Given the description of an element on the screen output the (x, y) to click on. 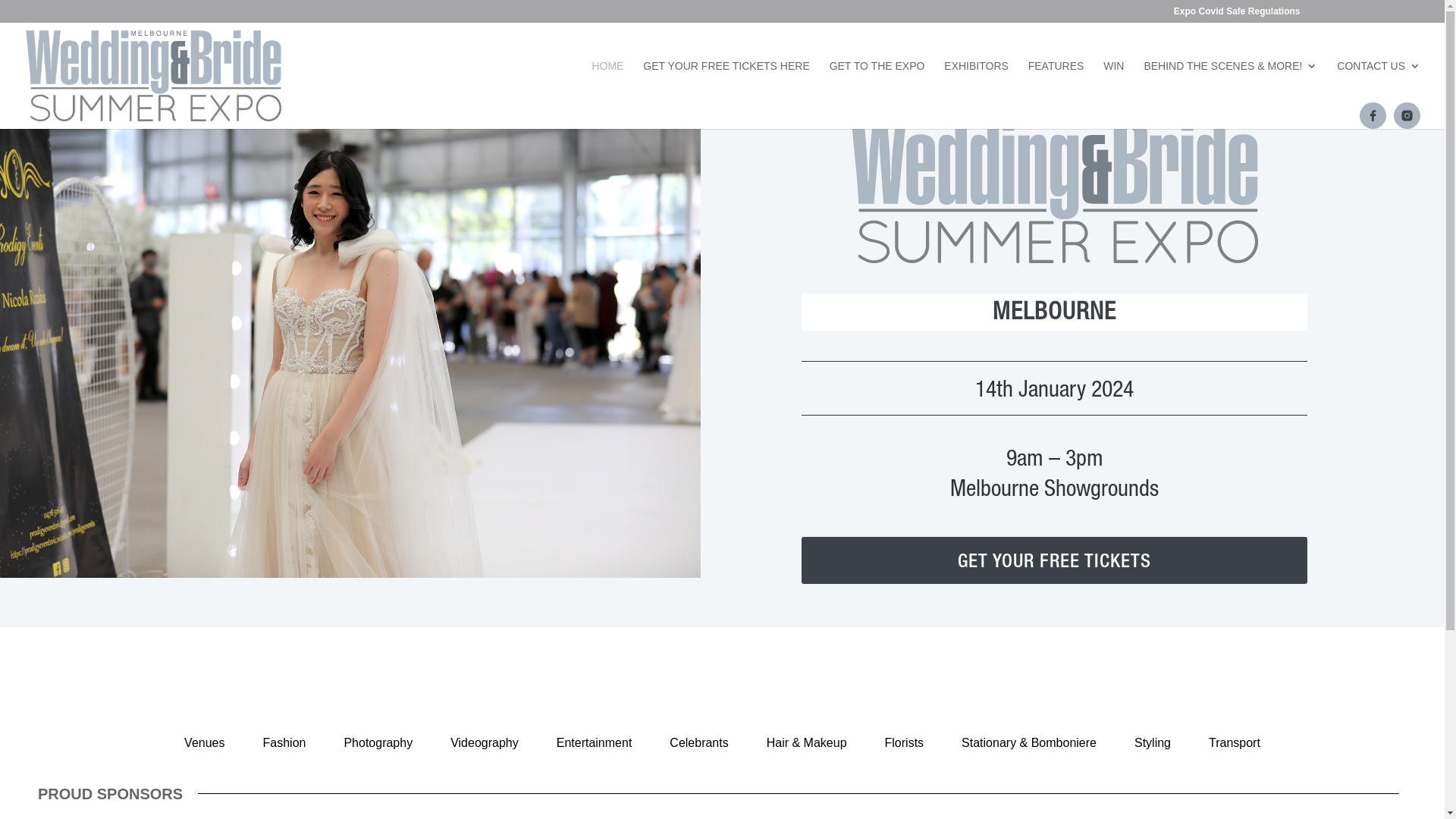
Entertainment Element type: text (594, 742)
Florists Element type: text (904, 742)
Stationary & Bomboniere Element type: text (1028, 742)
Hair & Makeup Element type: text (806, 742)
Photography Element type: text (377, 742)
Melb Wedding + Bride Expo Element type: hover (350, 343)
Styling Element type: text (1152, 742)
Venues Element type: text (204, 742)
Fashion Element type: text (283, 742)
GET YOUR FREE TICKETS HERE Element type: text (726, 84)
Wedding and bride bridal Expos 2024 Element type: hover (1054, 190)
Transport Element type: text (1234, 742)
Expo Covid Safe Regulations Element type: text (1236, 14)
GET TO THE EXPO Element type: text (877, 84)
Celebrants Element type: text (698, 742)
BEHIND THE SCENES & MORE! Element type: text (1230, 84)
CONTACT US Element type: text (1378, 84)
HOME Element type: text (607, 84)
FEATURES Element type: text (1056, 84)
WIN Element type: text (1113, 84)
GET YOUR FREE TICKETS Element type: text (1054, 559)
Videography Element type: text (484, 742)
EXHIBITORS Element type: text (976, 84)
